Given the description of an element on the screen output the (x, y) to click on. 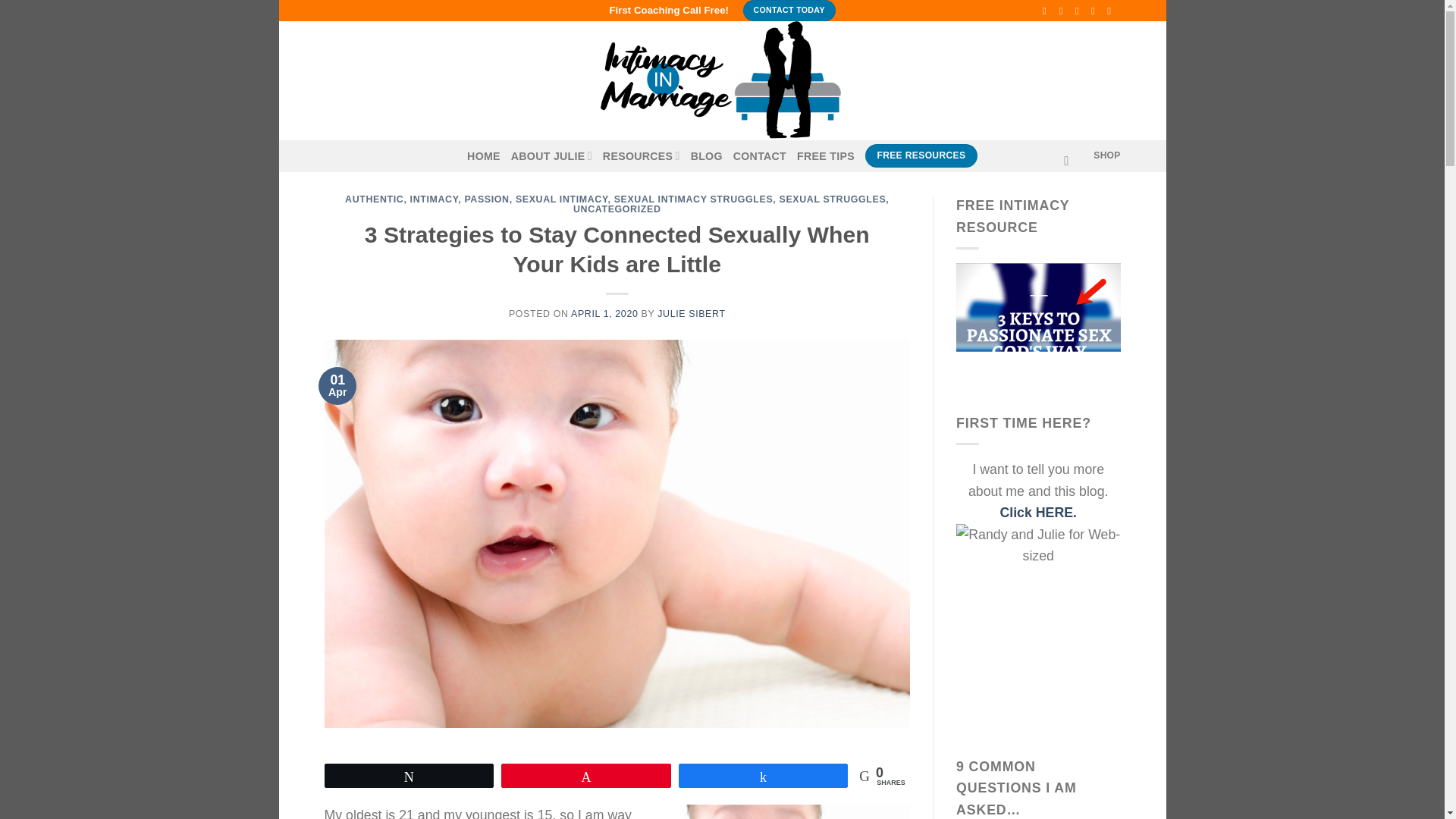
PASSION (486, 199)
SEXUAL INTIMACY STRUGGLES (693, 199)
INTIMACY (434, 199)
AUTHENTIC (374, 199)
Intimacy in Marriage - BETTER Sex in Your Christian Marriage (722, 80)
CONTACT (759, 156)
FREE TIPS (825, 156)
active (551, 156)
CONTACT TODAY (788, 10)
SEXUAL INTIMACY (561, 199)
HOME (483, 156)
BLOG (706, 156)
ABOUT JULIE (551, 156)
RESOURCES (640, 156)
